Given the description of an element on the screen output the (x, y) to click on. 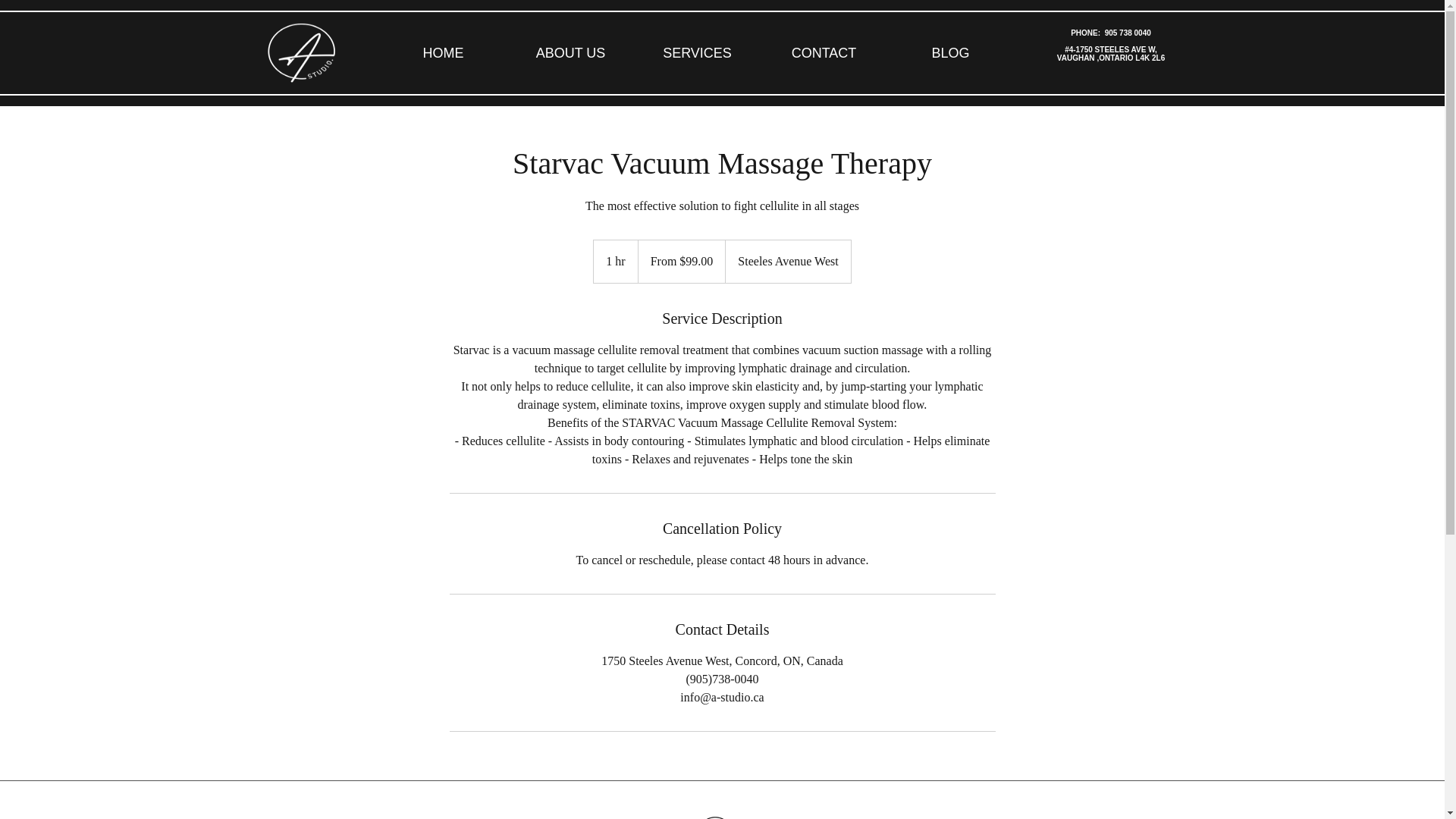
HOME (442, 52)
ABOUT US (570, 52)
CONTACT (823, 52)
BLOG (949, 52)
SERVICES (696, 52)
